Given the description of an element on the screen output the (x, y) to click on. 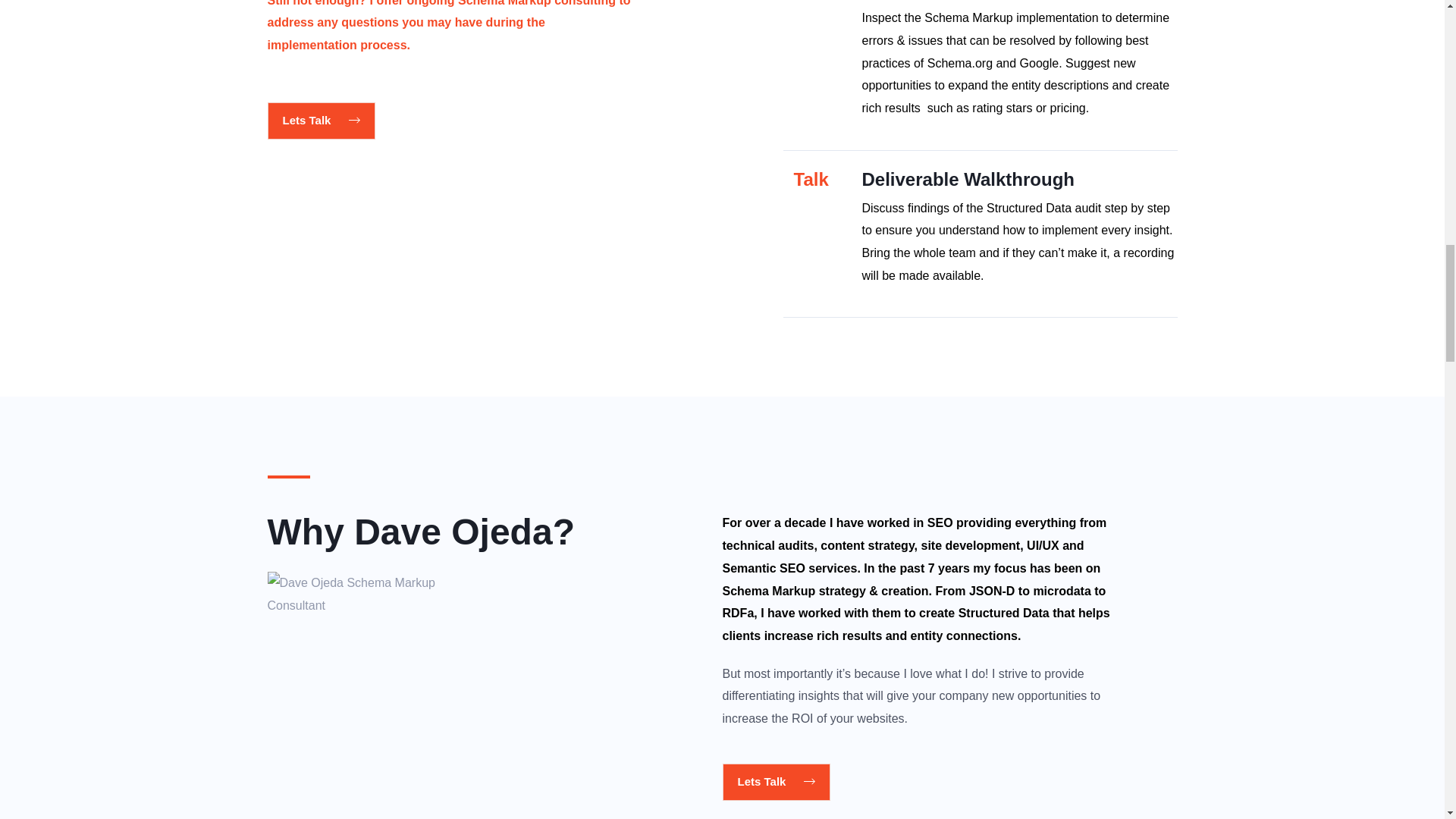
Lets Talk (775, 781)
Lets Talk (320, 120)
